Given the description of an element on the screen output the (x, y) to click on. 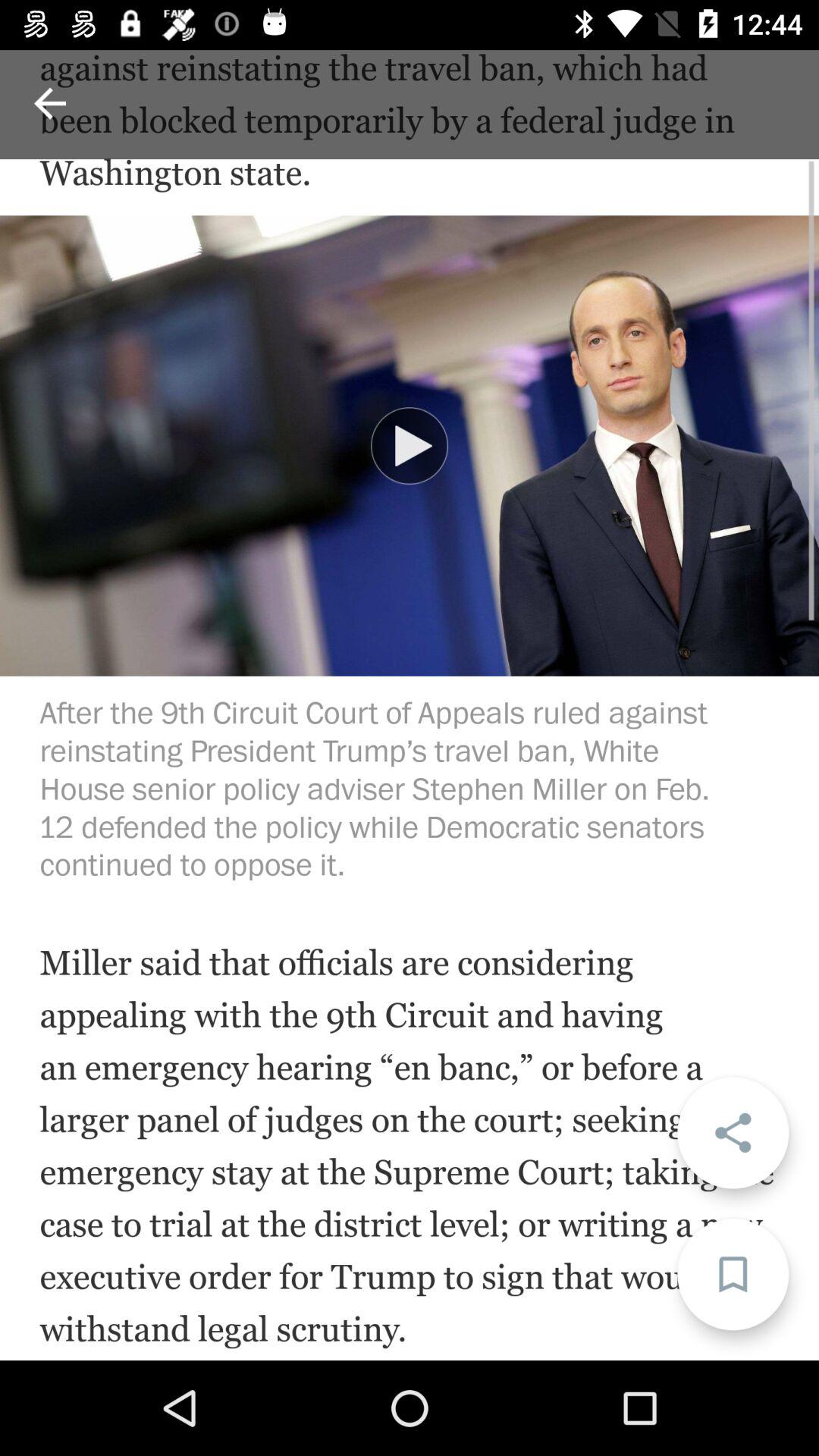
back (49, 103)
